Given the description of an element on the screen output the (x, y) to click on. 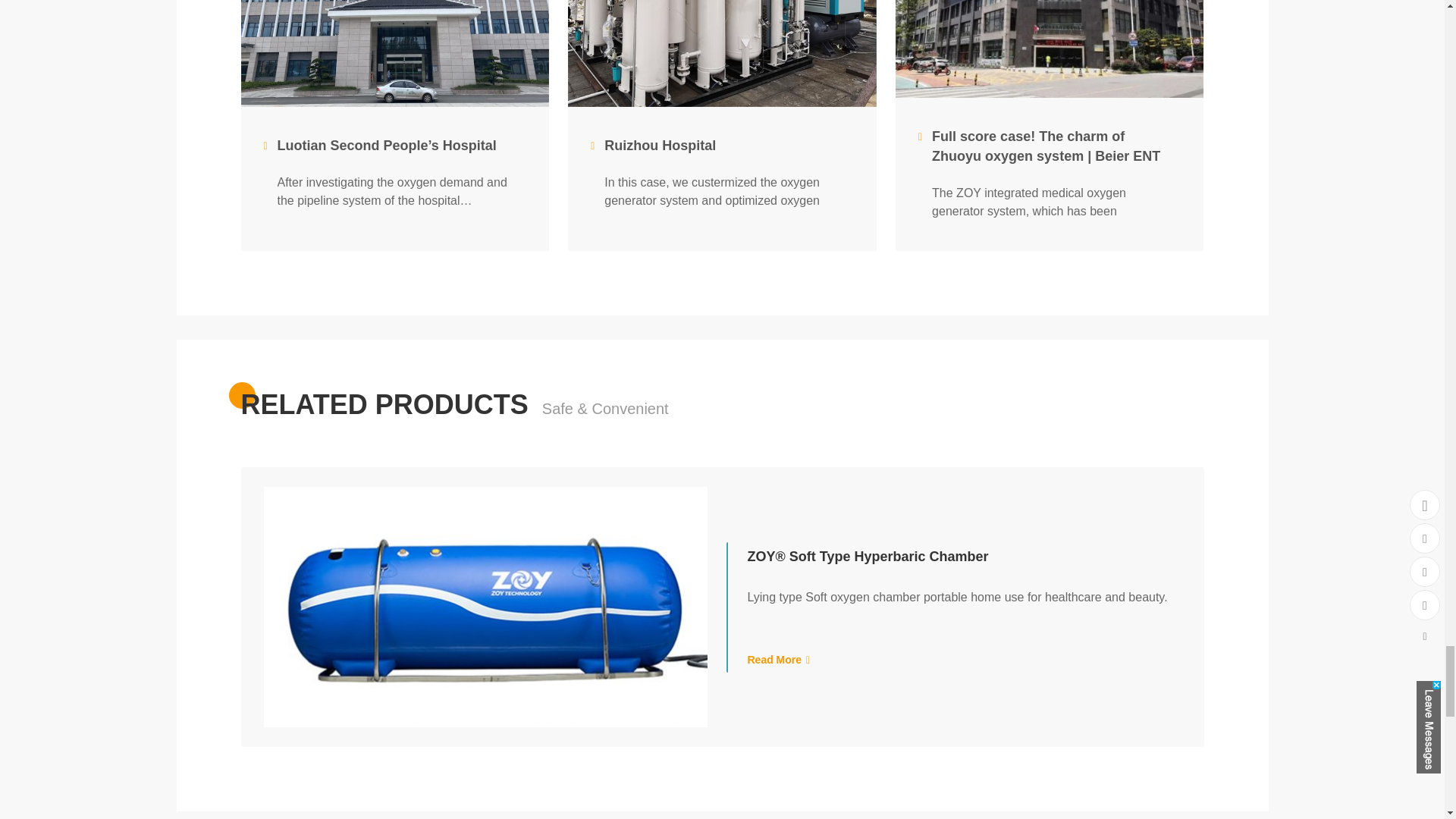
Ruizhou Hospital (714, 145)
